Given the description of an element on the screen output the (x, y) to click on. 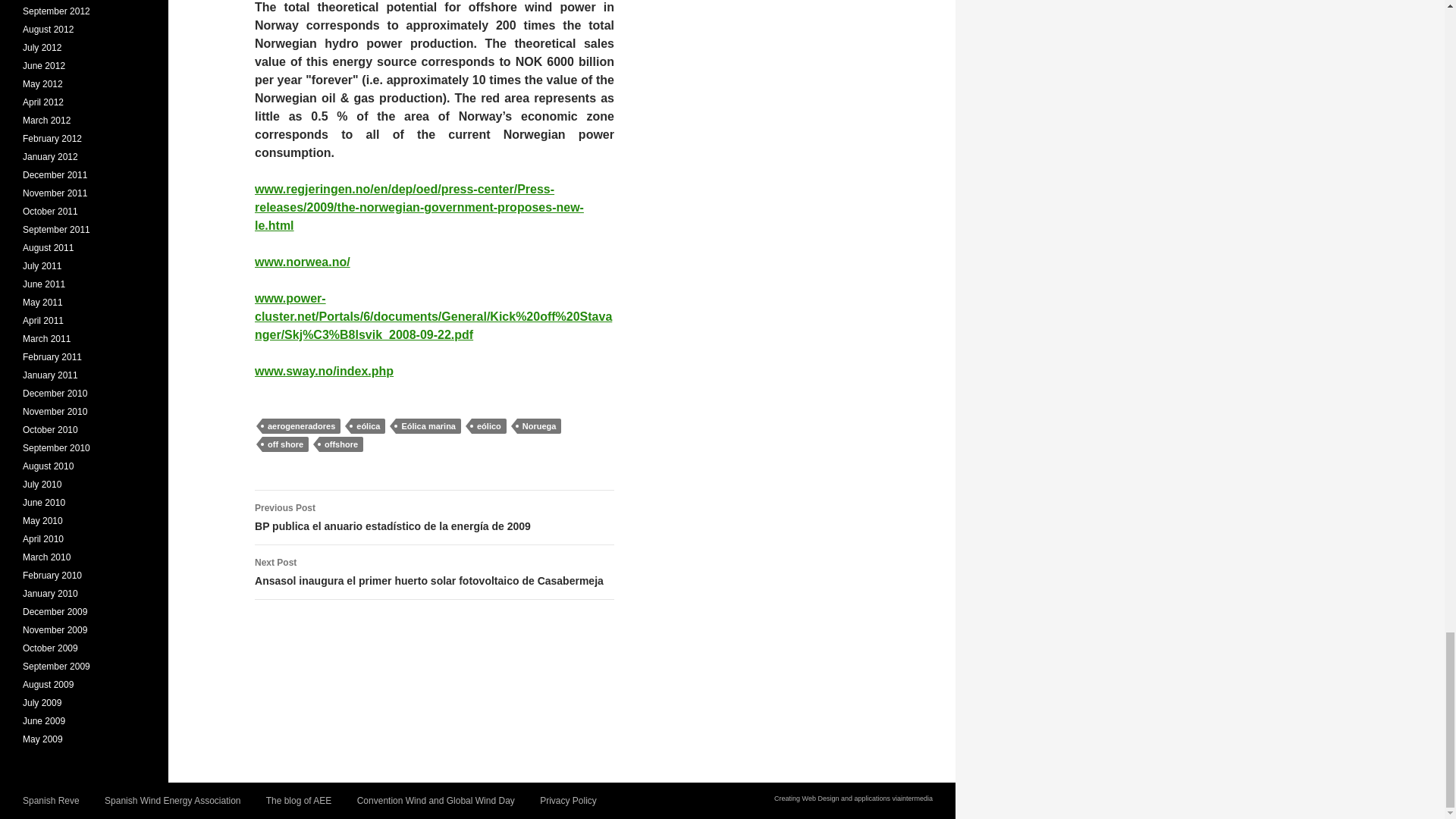
Noruega (539, 426)
offshore (340, 444)
aerogeneradores (301, 426)
off shore (285, 444)
